Given the description of an element on the screen output the (x, y) to click on. 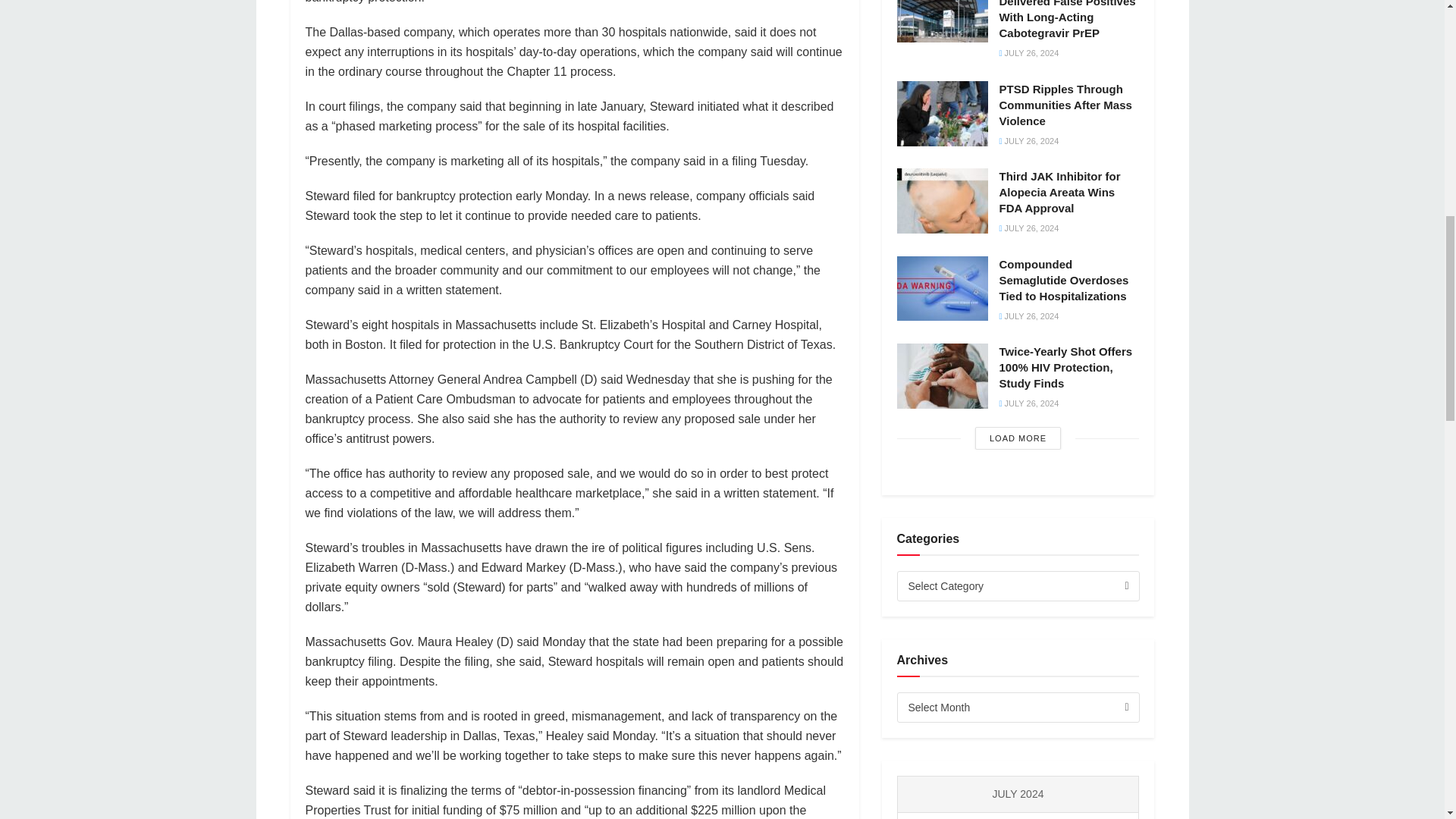
Friday (1051, 816)
Wednesday (983, 816)
Tuesday (948, 816)
Saturday (1086, 816)
Sunday (1120, 816)
Monday (914, 816)
Thursday (1018, 816)
